Given the description of an element on the screen output the (x, y) to click on. 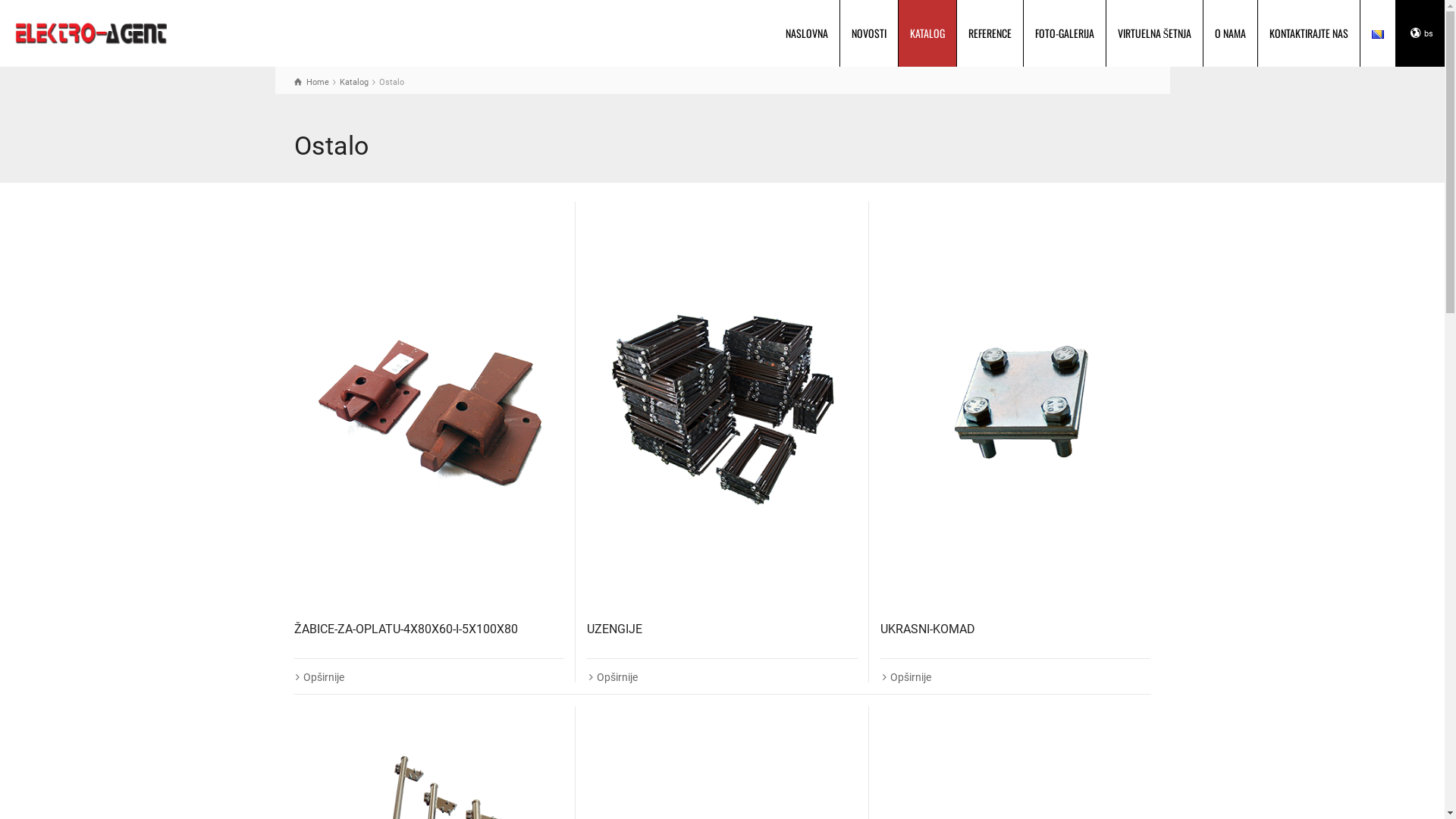
UZENGIJE Element type: text (614, 628)
Elektro-Agent Element type: hover (90, 31)
UZENGIJE Element type: hover (721, 404)
O NAMA Element type: text (1230, 33)
KONTAKTIRAJTE NAS Element type: text (1309, 33)
REFERENCE Element type: text (990, 33)
UKRASNI-KOMAD Element type: hover (1015, 404)
FOTO-GALERIJA Element type: text (1064, 33)
Bosanski Element type: hover (1377, 34)
KATALOG Element type: text (927, 33)
Home Element type: text (311, 82)
NOVOSTI Element type: text (869, 33)
Katalog Element type: text (353, 82)
UKRASNI-KOMAD Element type: text (927, 628)
NASLOVNA Element type: text (807, 33)
